Given the description of an element on the screen output the (x, y) to click on. 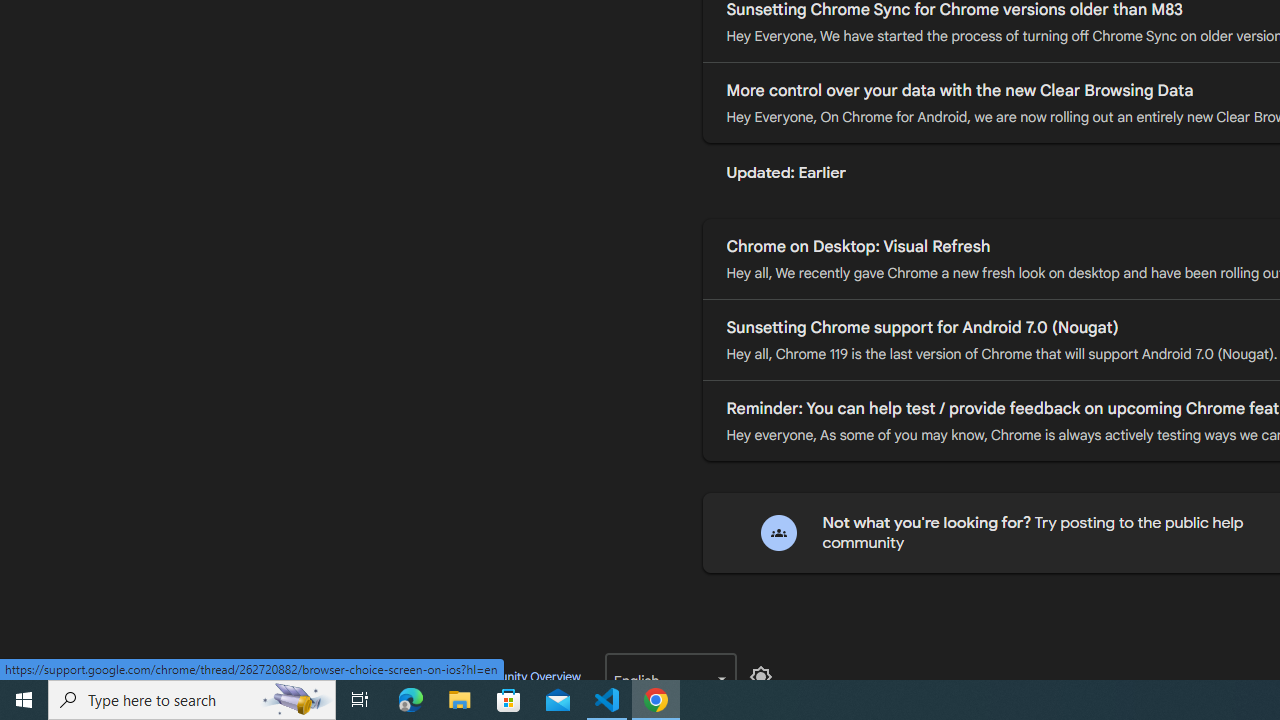
Privacy Policy (205, 676)
Community Policy (404, 676)
Disable Dark Mode (760, 677)
Community Overview (522, 676)
Terms of Service (299, 676)
